Given the description of an element on the screen output the (x, y) to click on. 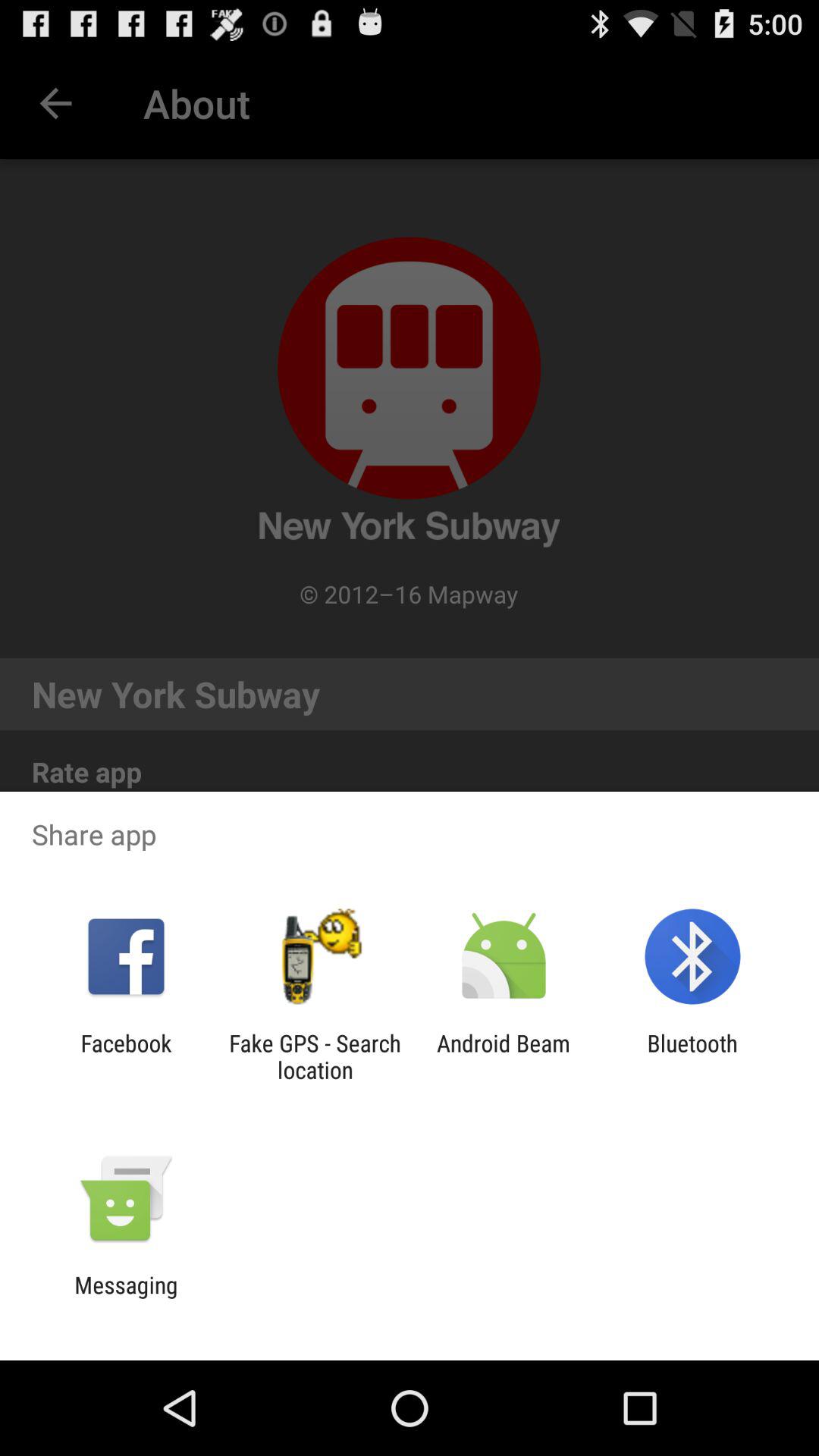
open the app to the right of facebook icon (314, 1056)
